Given the description of an element on the screen output the (x, y) to click on. 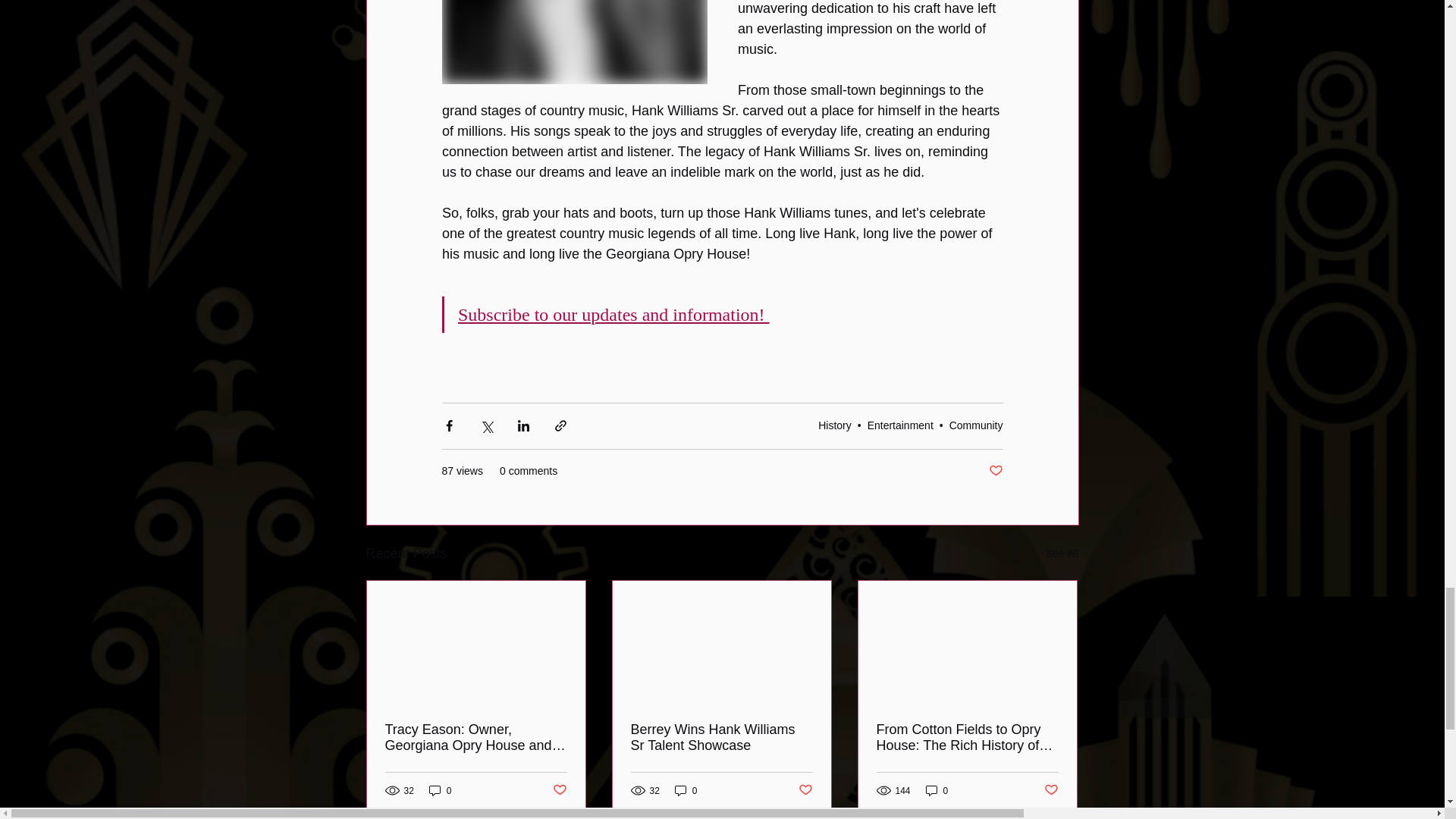
Post not marked as liked (995, 471)
See All (1061, 553)
0 (440, 789)
History (834, 425)
Subscribe to our updates and information!  (614, 314)
Community (976, 425)
Entertainment (900, 425)
Post not marked as liked (558, 790)
